Given the description of an element on the screen output the (x, y) to click on. 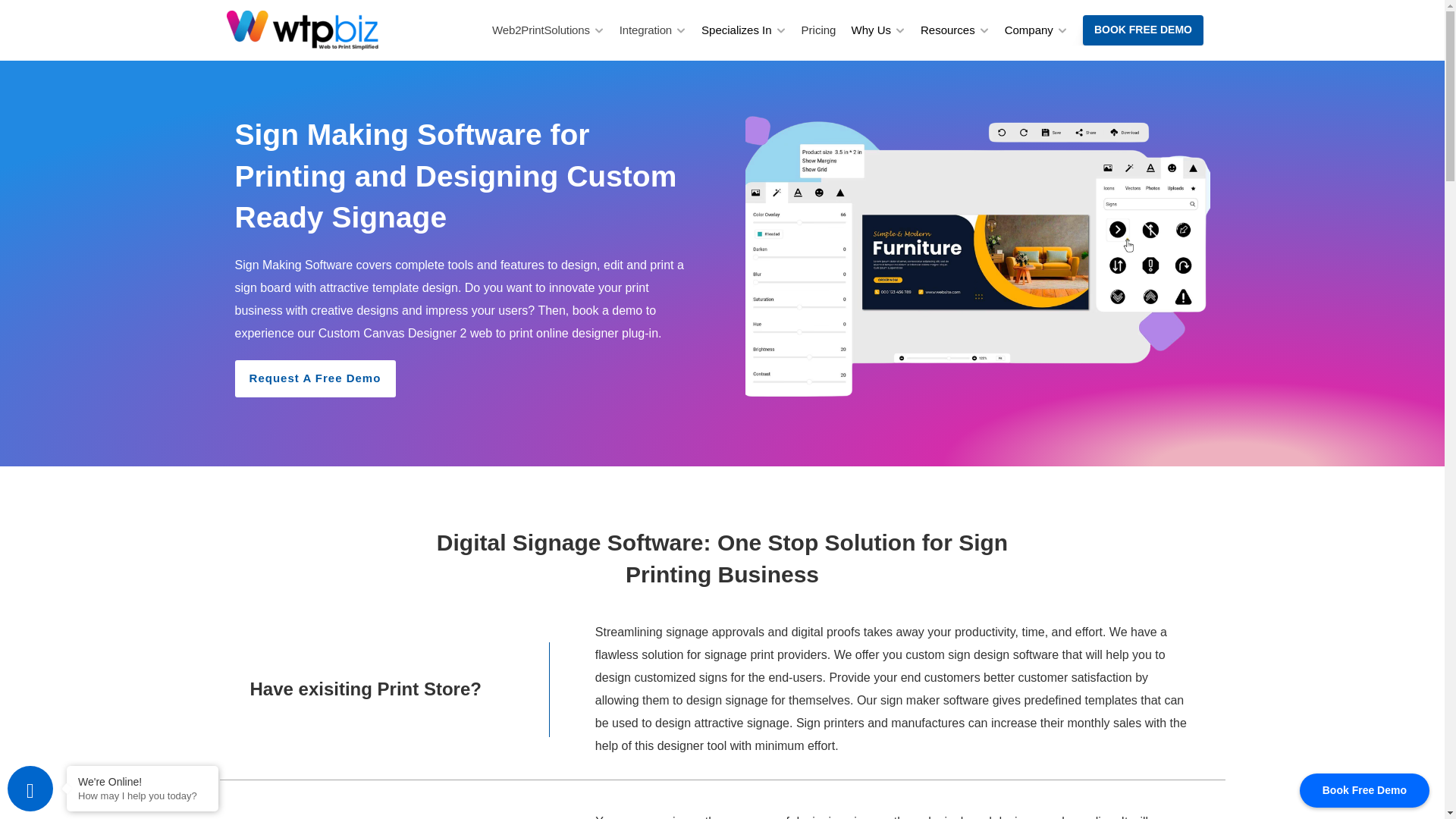
BOOK FREE DEMO (1143, 30)
We're Online! (142, 781)
Request A Free Demo (315, 378)
Pricing (818, 29)
How may I help you today? (142, 795)
